Given the description of an element on the screen output the (x, y) to click on. 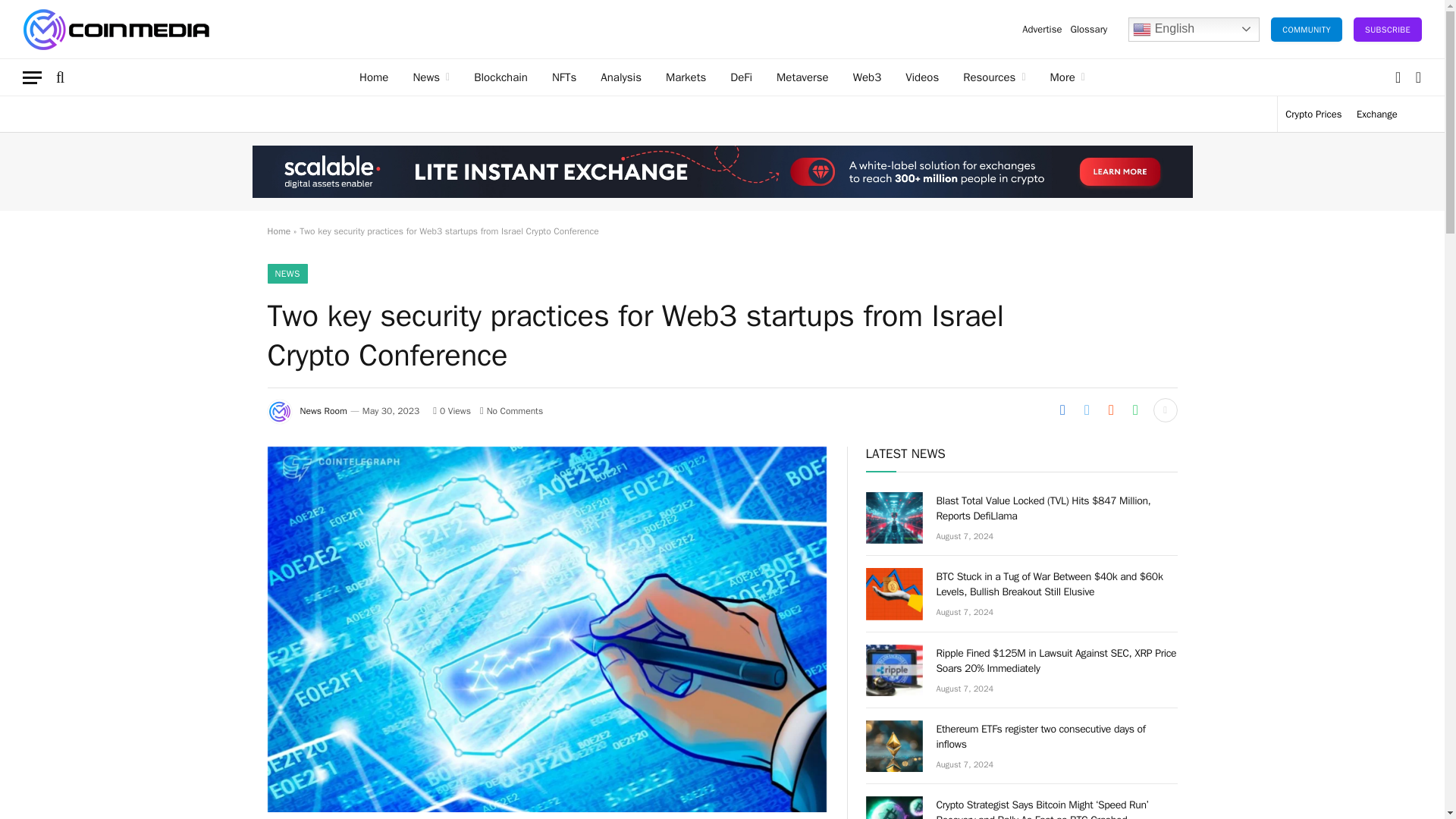
Advertise (1041, 29)
Glossary (1087, 29)
Coin Media (116, 28)
